Given the description of an element on the screen output the (x, y) to click on. 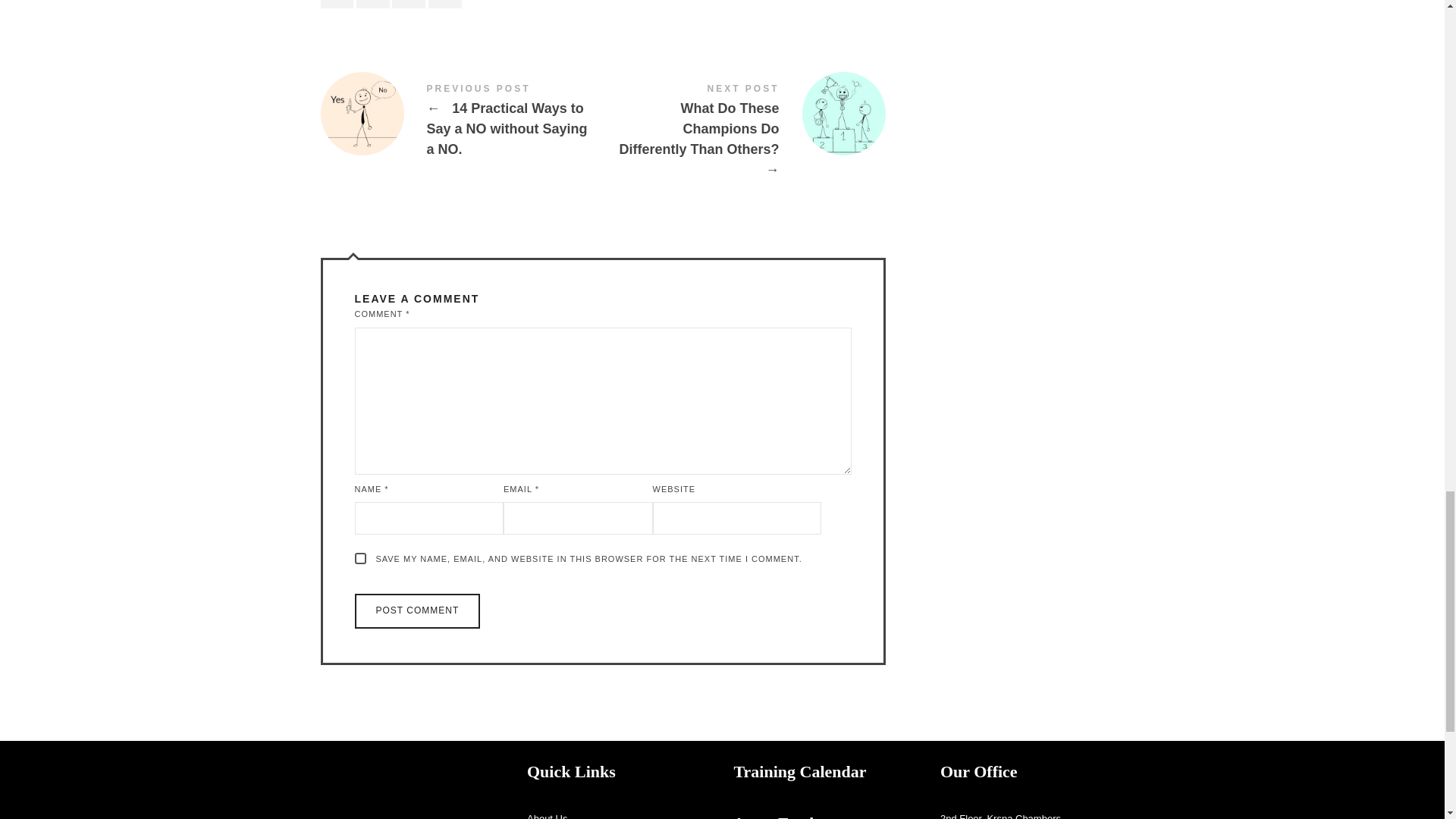
Post Comment (417, 610)
Tweet this post to your followers (373, 4)
Email this post to a friend (444, 4)
Share this post on Facebook (336, 4)
Pin it (408, 4)
yes (360, 558)
